Given the description of an element on the screen output the (x, y) to click on. 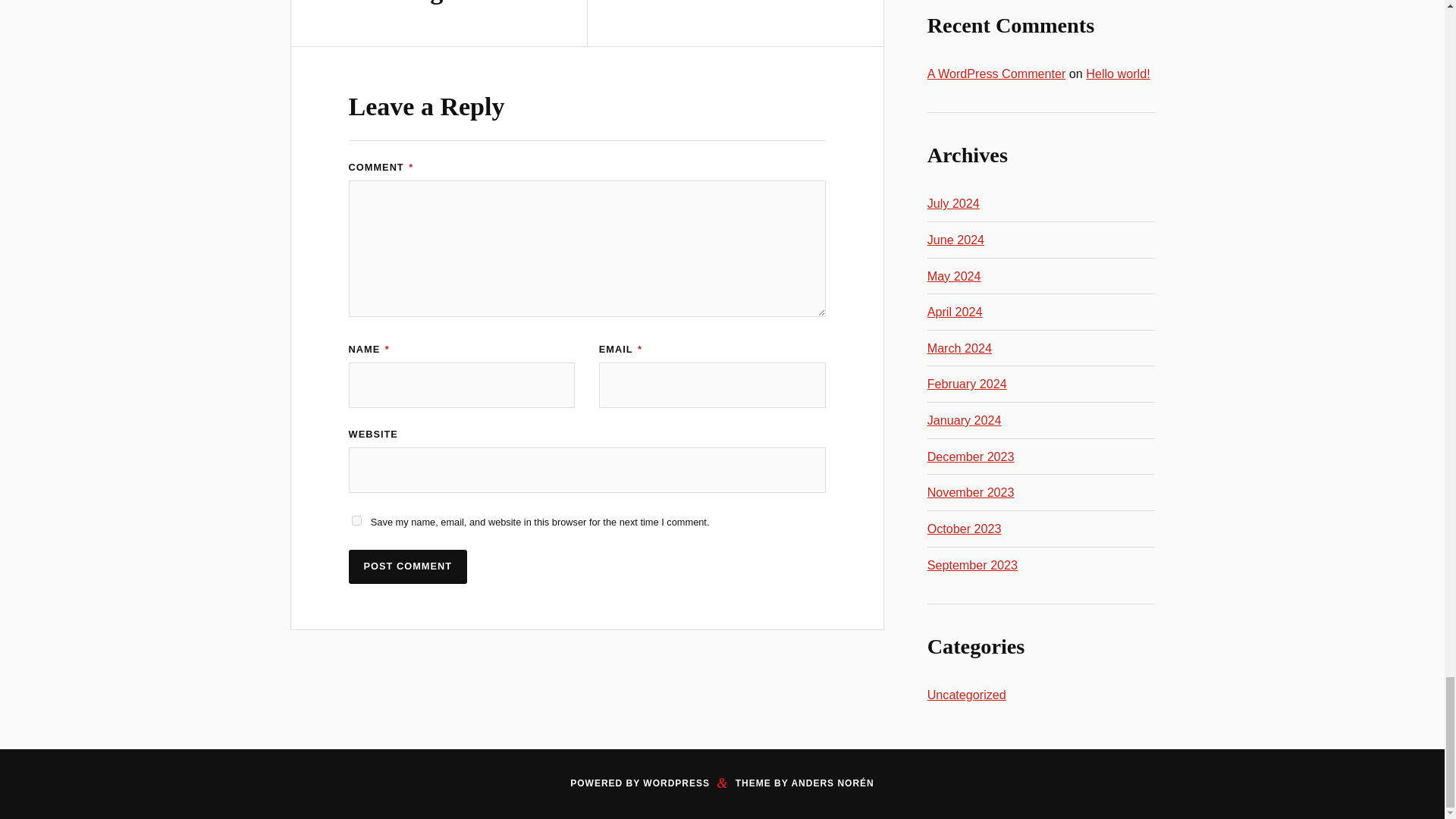
Post Comment (408, 566)
yes (356, 520)
Post Comment (408, 566)
